Given the description of an element on the screen output the (x, y) to click on. 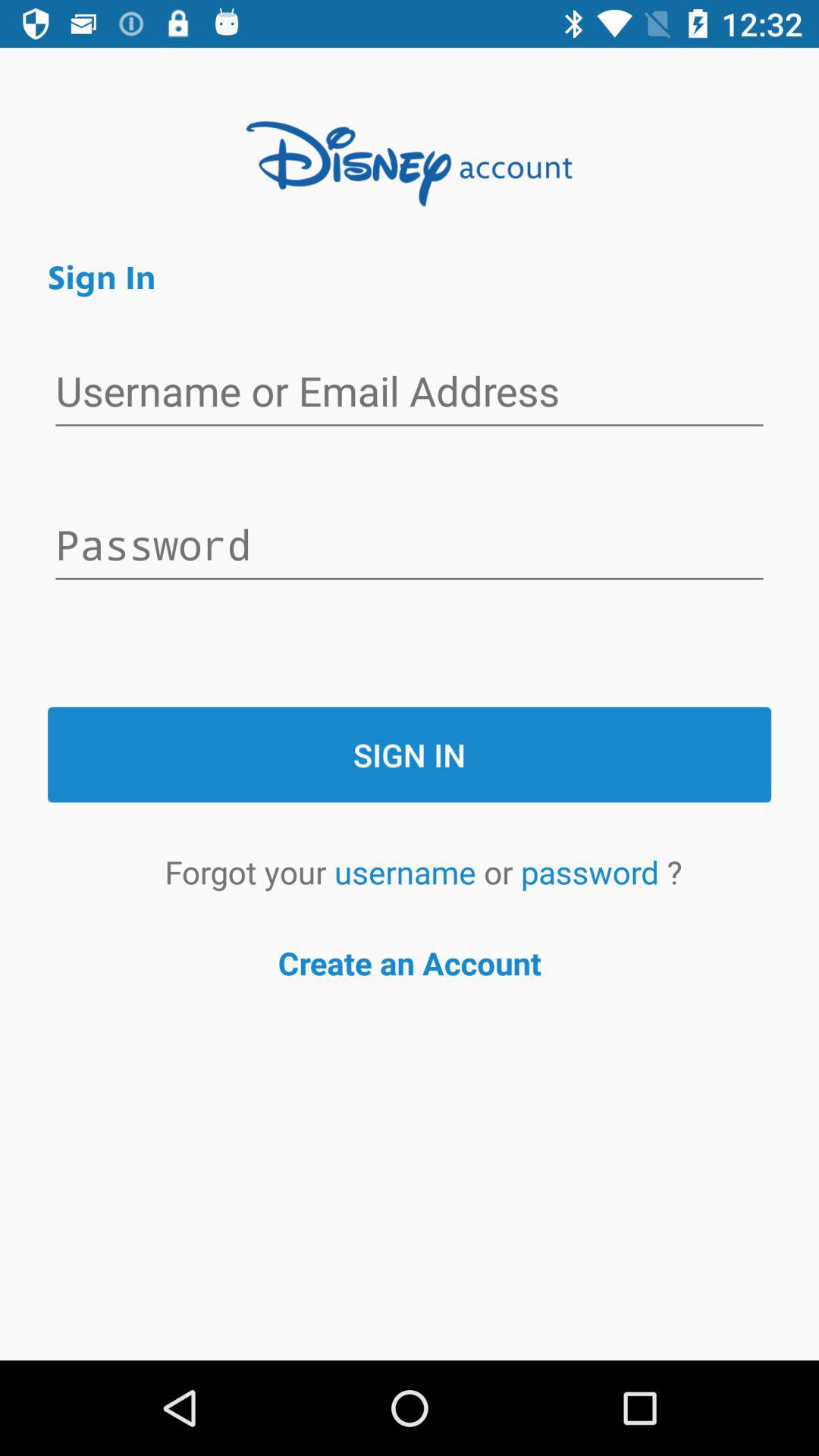
click on the text before password (409, 393)
